Given the description of an element on the screen output the (x, y) to click on. 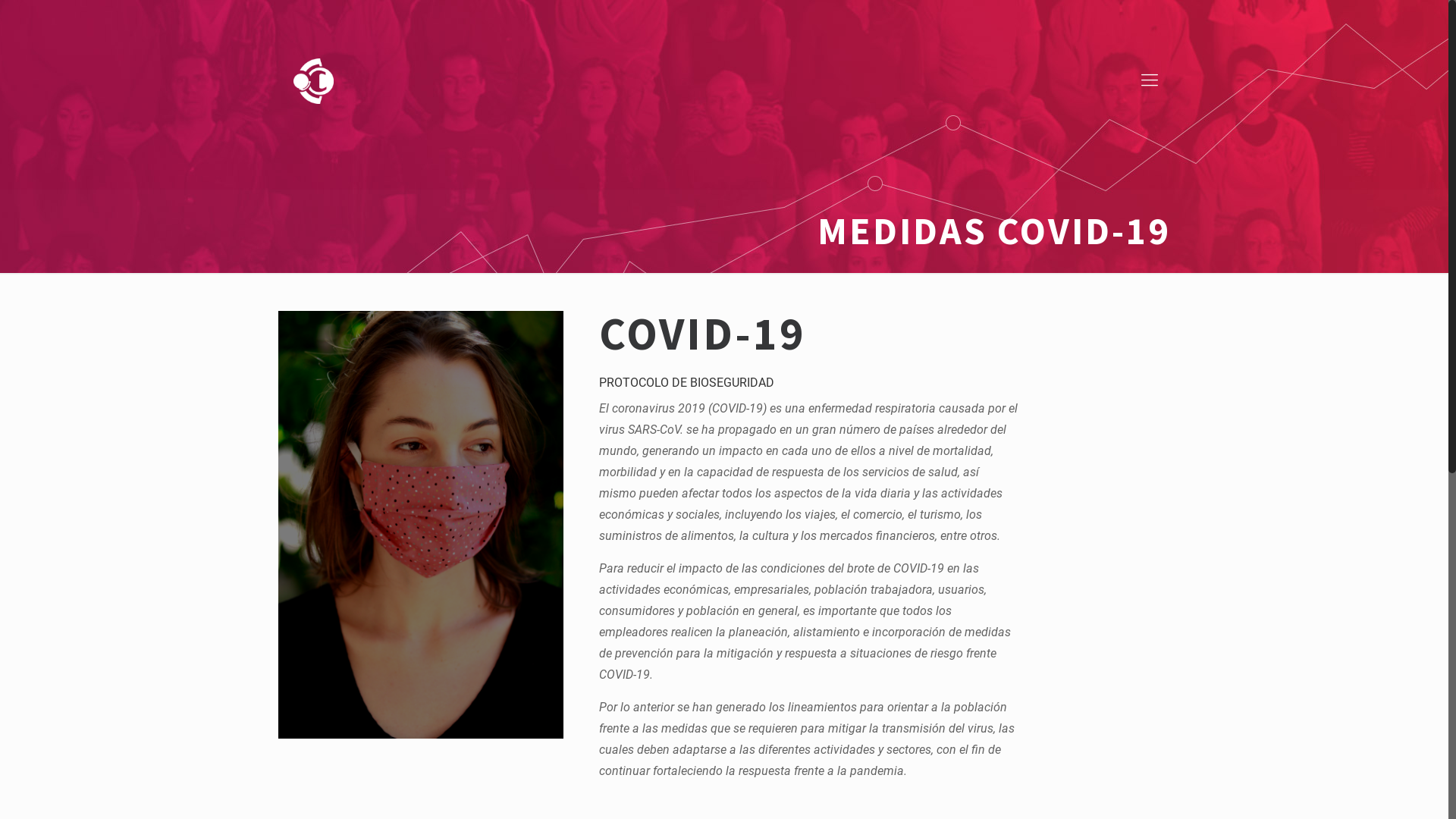
Collect  Center Element type: hover (313, 80)
